Given the description of an element on the screen output the (x, y) to click on. 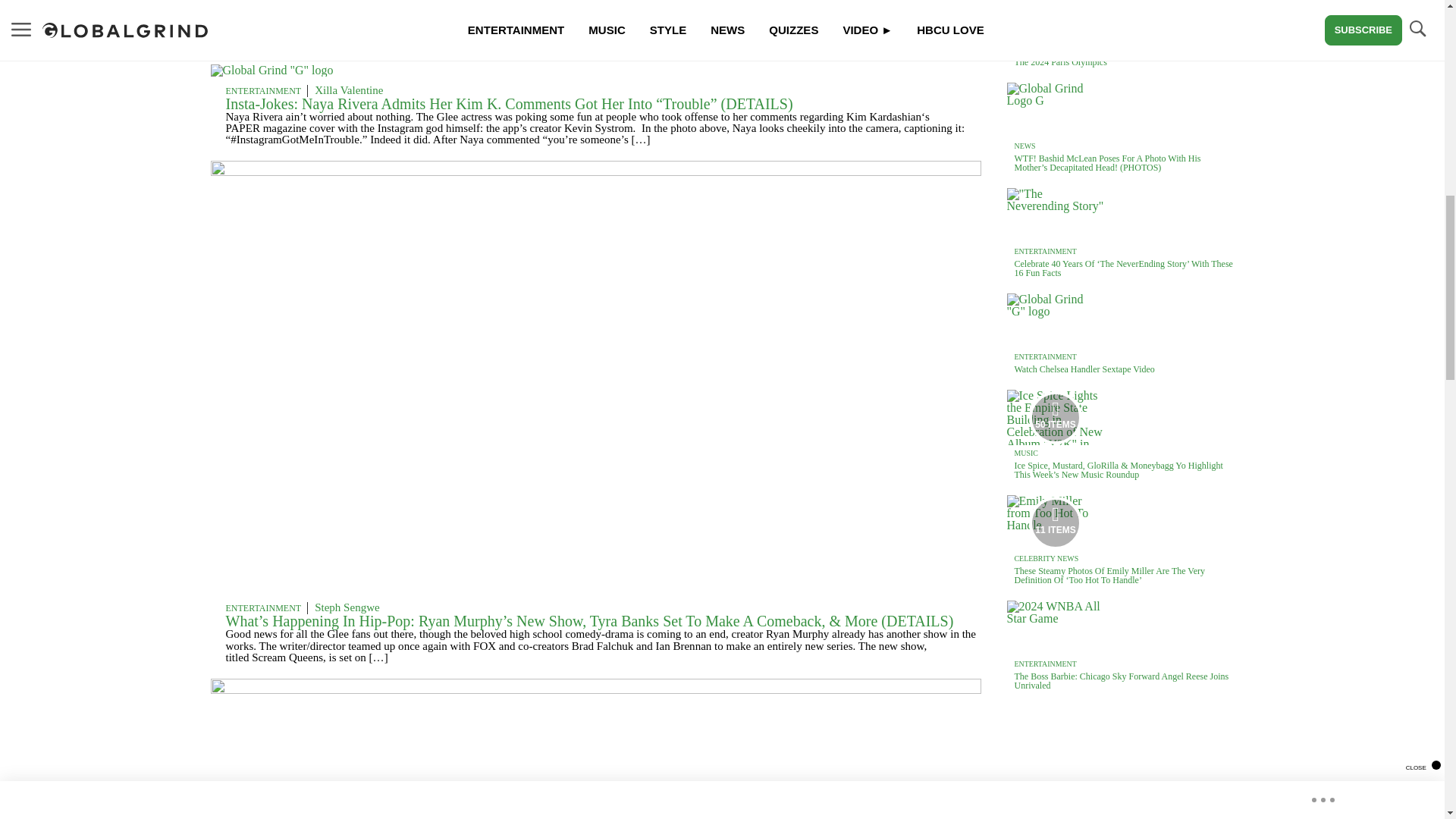
Media Playlist (1055, 522)
Media Playlist (1055, 417)
